Given the description of an element on the screen output the (x, y) to click on. 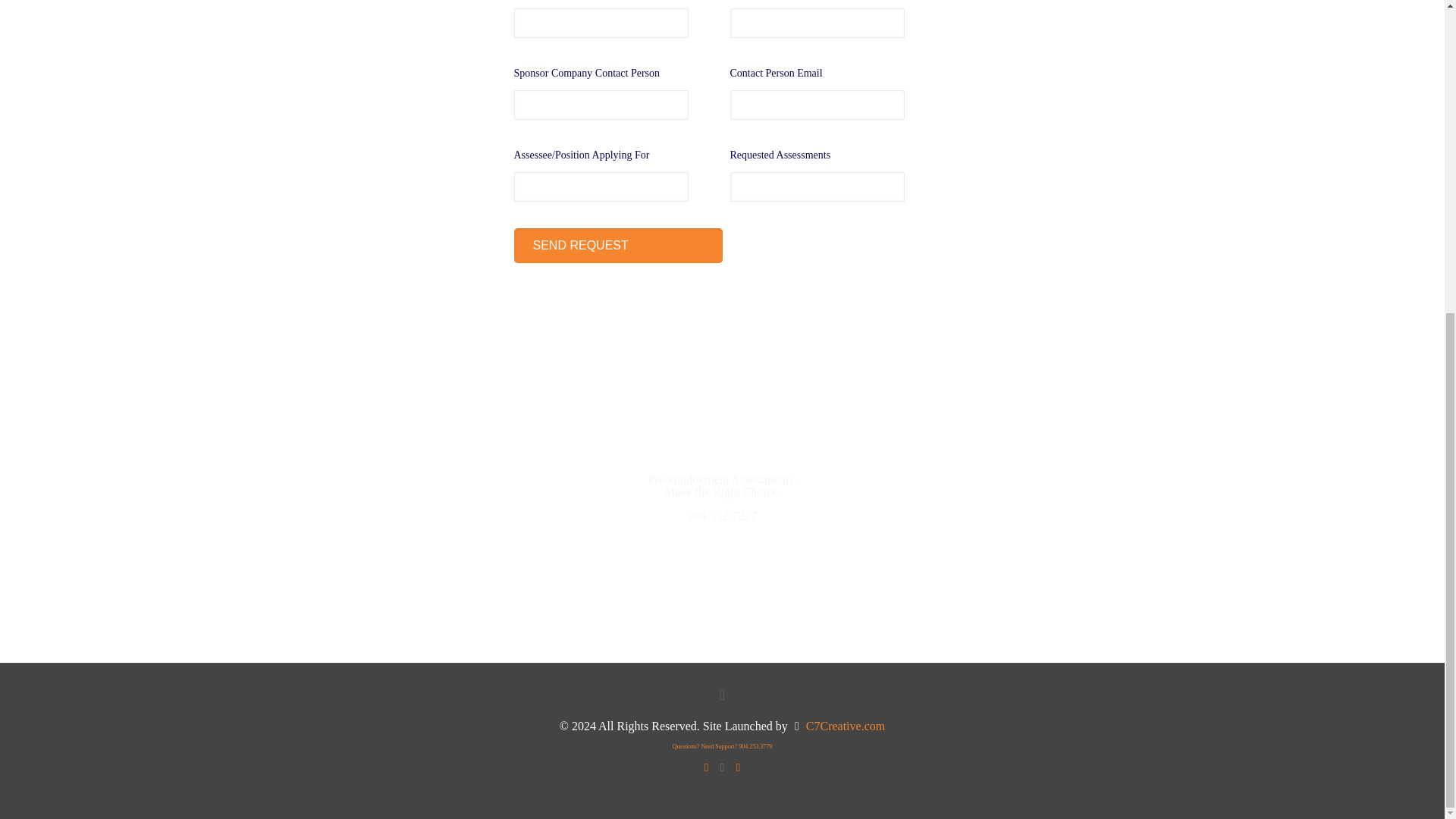
LinkedIn (738, 767)
C7Creative.com (845, 725)
Questions? Need Support? 904.253.3779 (721, 746)
Facebook (705, 767)
SEND REQUEST (617, 245)
